Given the description of an element on the screen output the (x, y) to click on. 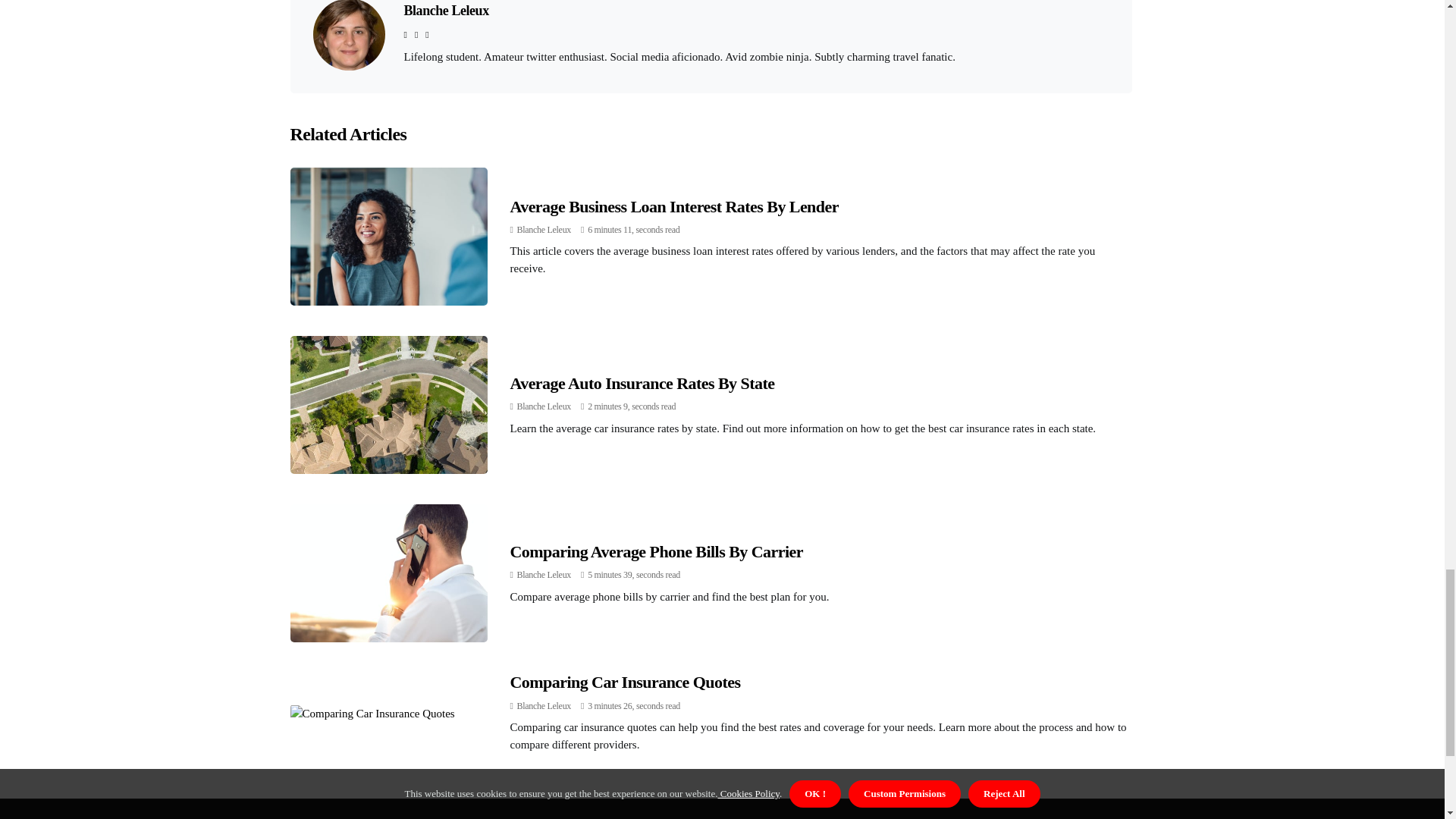
Posts by Blanche Leleux (543, 574)
Posts by Blanche Leleux (543, 406)
Posts by Blanche Leleux (543, 706)
Posts by Blanche Leleux (543, 229)
